Given the description of an element on the screen output the (x, y) to click on. 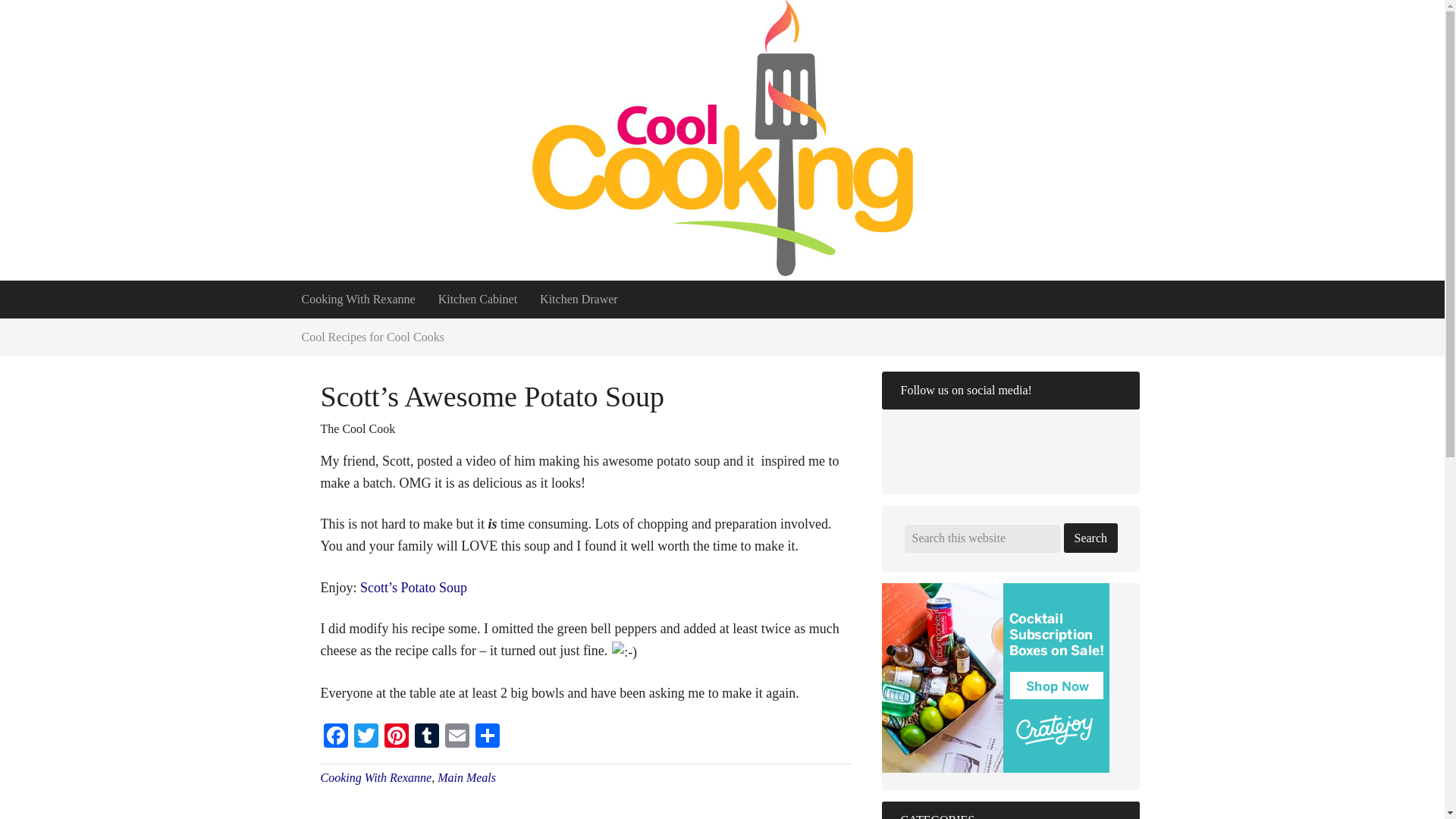
Tumblr (425, 737)
Pinterest (395, 737)
Facebook (335, 737)
Twitter (365, 737)
Cool Recipes for Cool Cooks (371, 337)
Pinterest (395, 737)
Search (1090, 537)
Email (456, 737)
Email (456, 737)
